Given the description of an element on the screen output the (x, y) to click on. 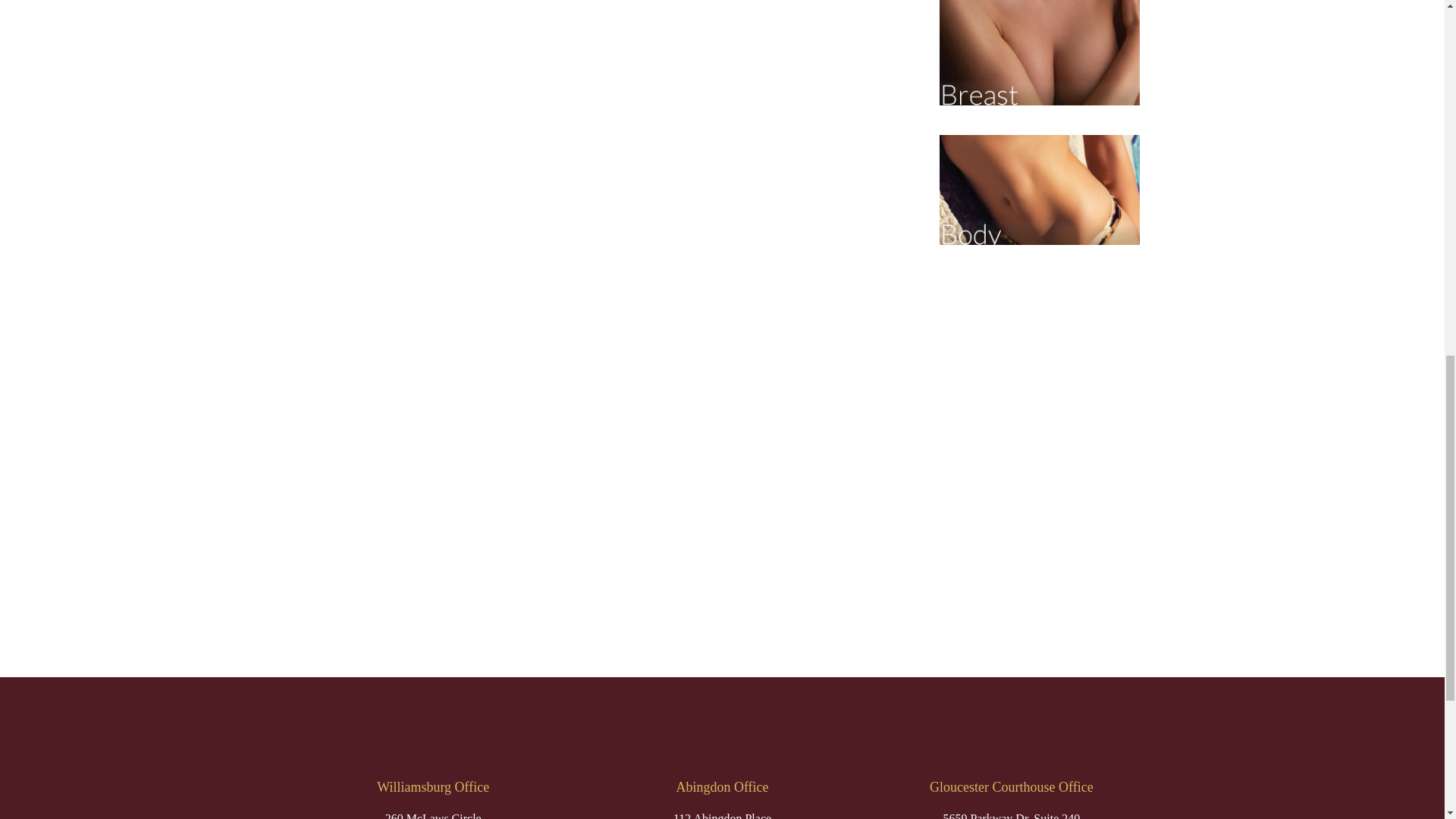
pss-horizontal-logo-white (721, 732)
